Given the description of an element on the screen output the (x, y) to click on. 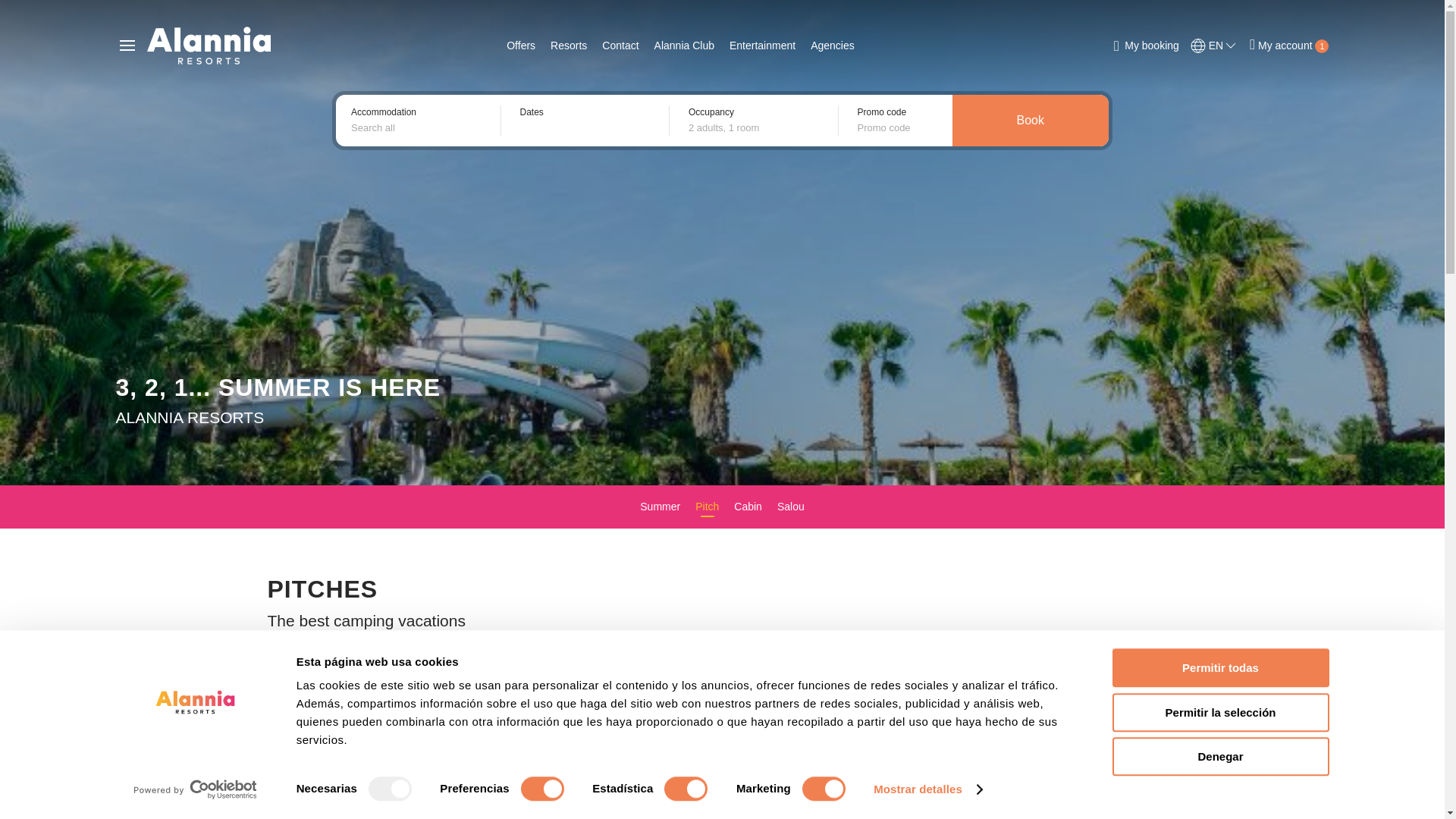
2 adults, 1 room (759, 128)
Search all (421, 128)
2 adults, 1 room (759, 128)
Search all (421, 128)
Mostrar detalles (927, 789)
